Given the description of an element on the screen output the (x, y) to click on. 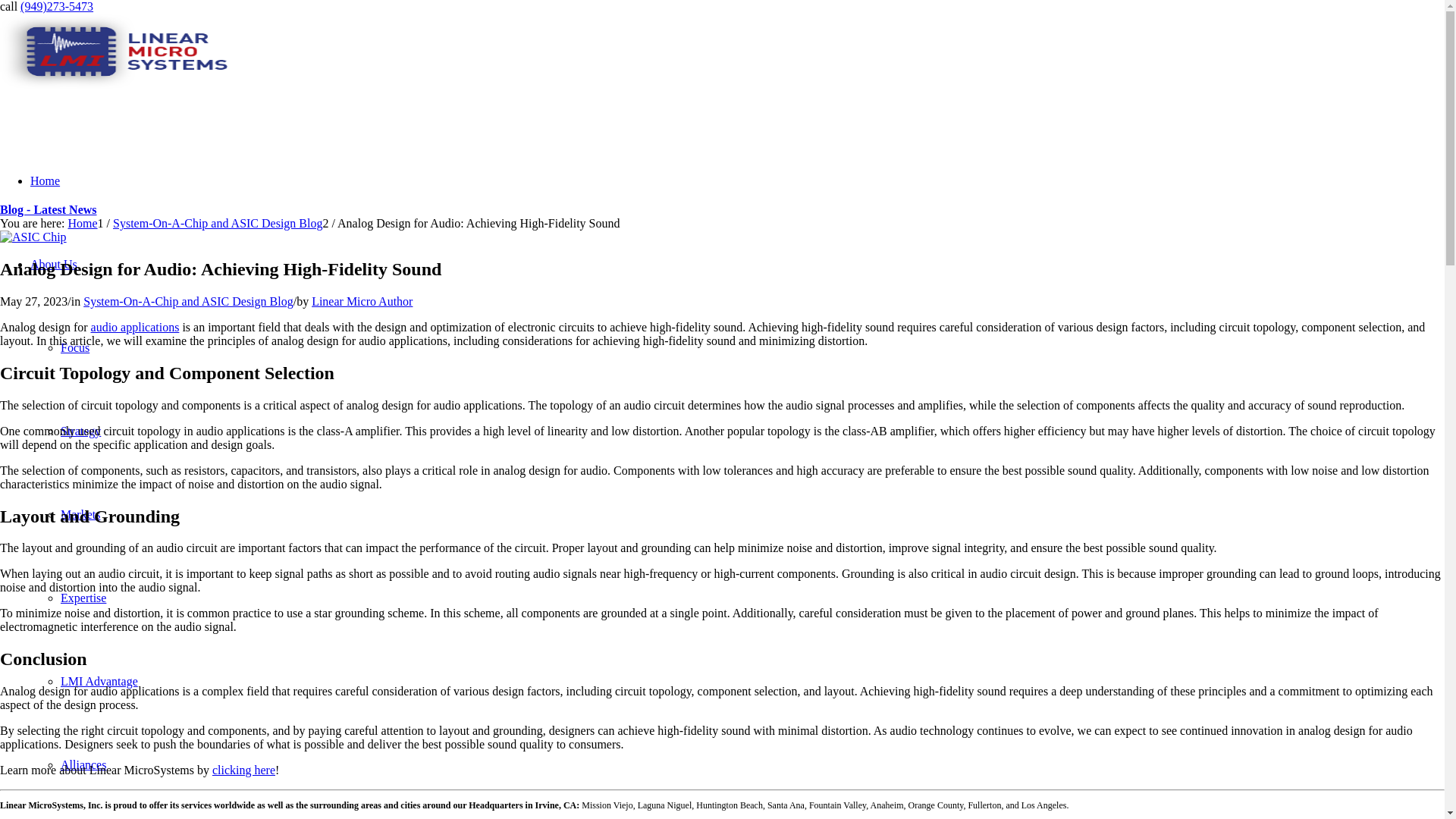
Focus (74, 347)
Expertise (83, 597)
Blog - Latest News (48, 209)
linear-microsystems-logo (113, 51)
Linear Micro Author (361, 300)
audio applications (134, 327)
Home (44, 180)
Home (81, 223)
clicking here (243, 769)
Strategy (80, 431)
